Given the description of an element on the screen output the (x, y) to click on. 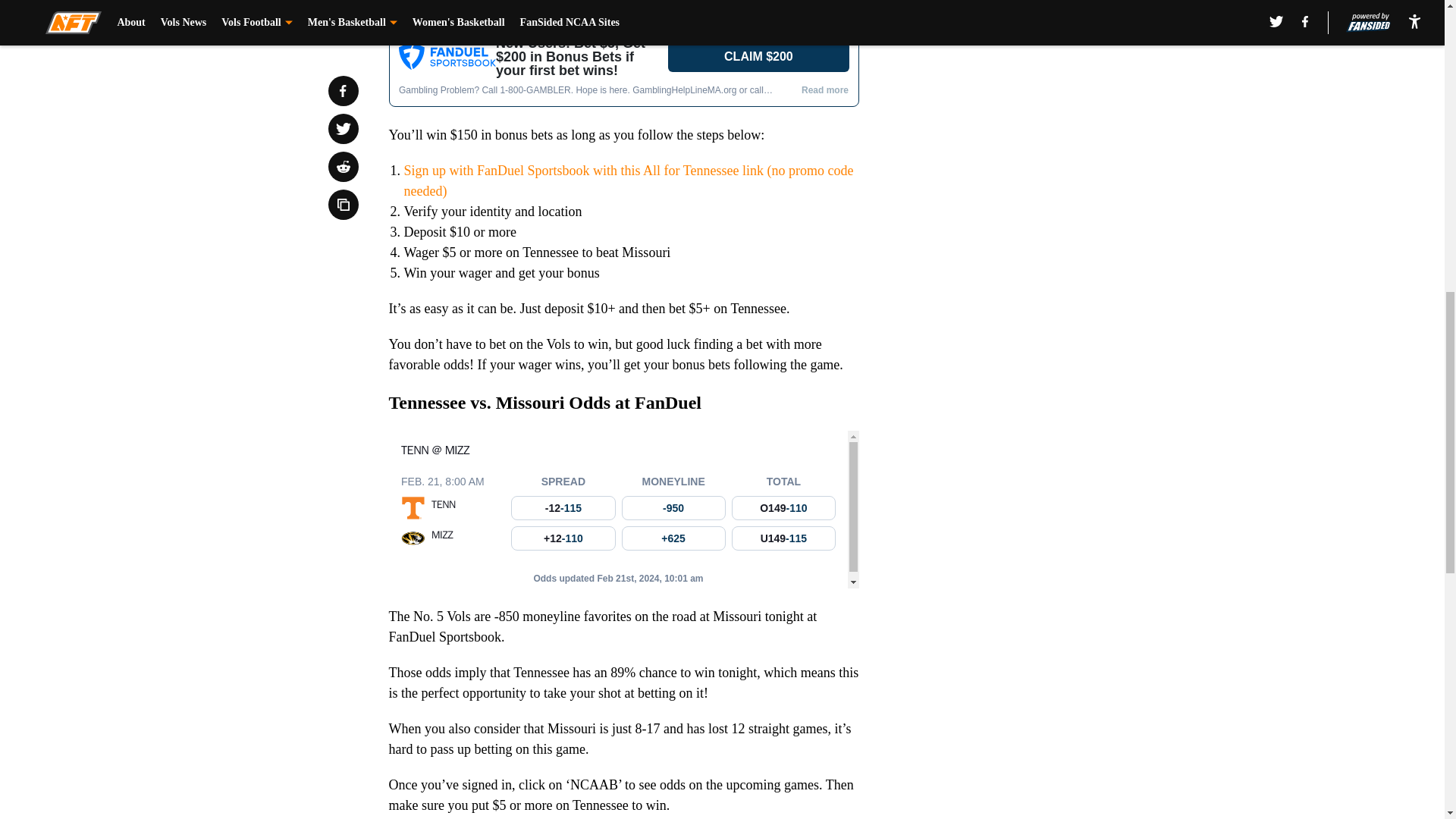
tallysight (623, 509)
tallysight (623, 66)
